Given the description of an element on the screen output the (x, y) to click on. 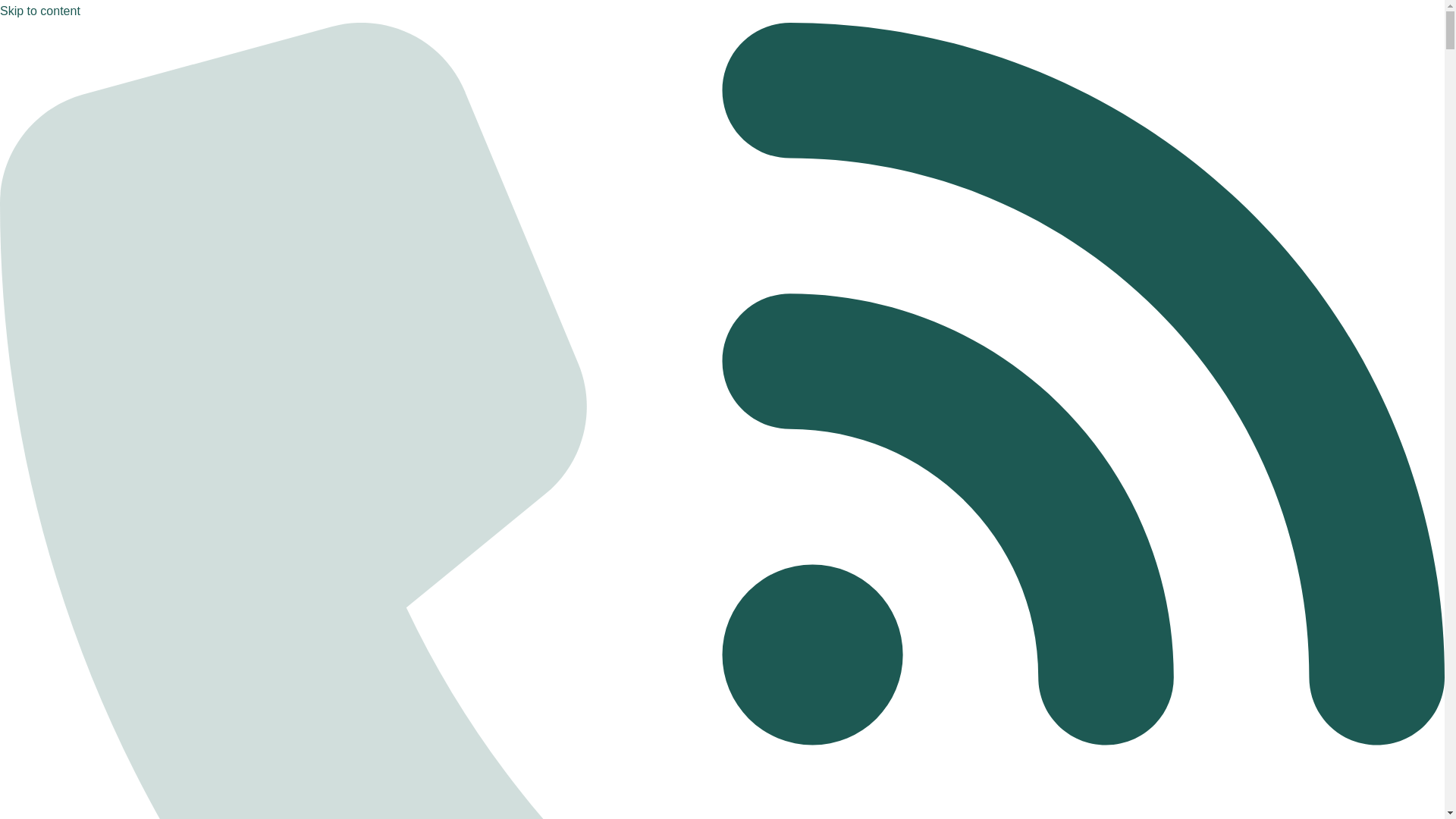
Skip to content (40, 10)
